Given the description of an element on the screen output the (x, y) to click on. 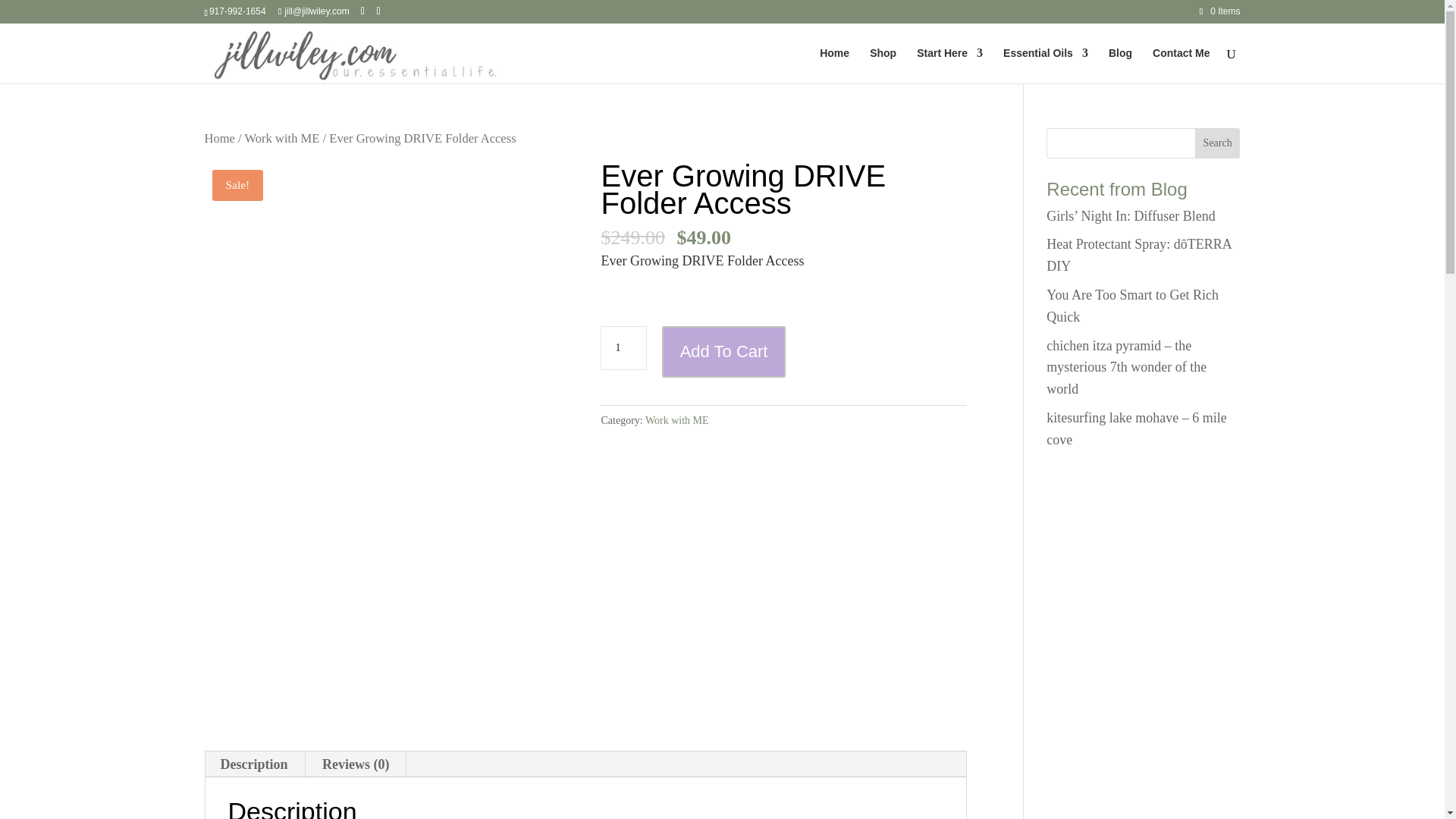
Home (219, 138)
0 Items (1219, 10)
Add To Cart (724, 351)
Work with ME (677, 419)
Description (253, 764)
Contact Me (1181, 65)
Search (1217, 142)
Work with ME (282, 138)
Start Here (949, 65)
Essential Oils (1045, 65)
